Given the description of an element on the screen output the (x, y) to click on. 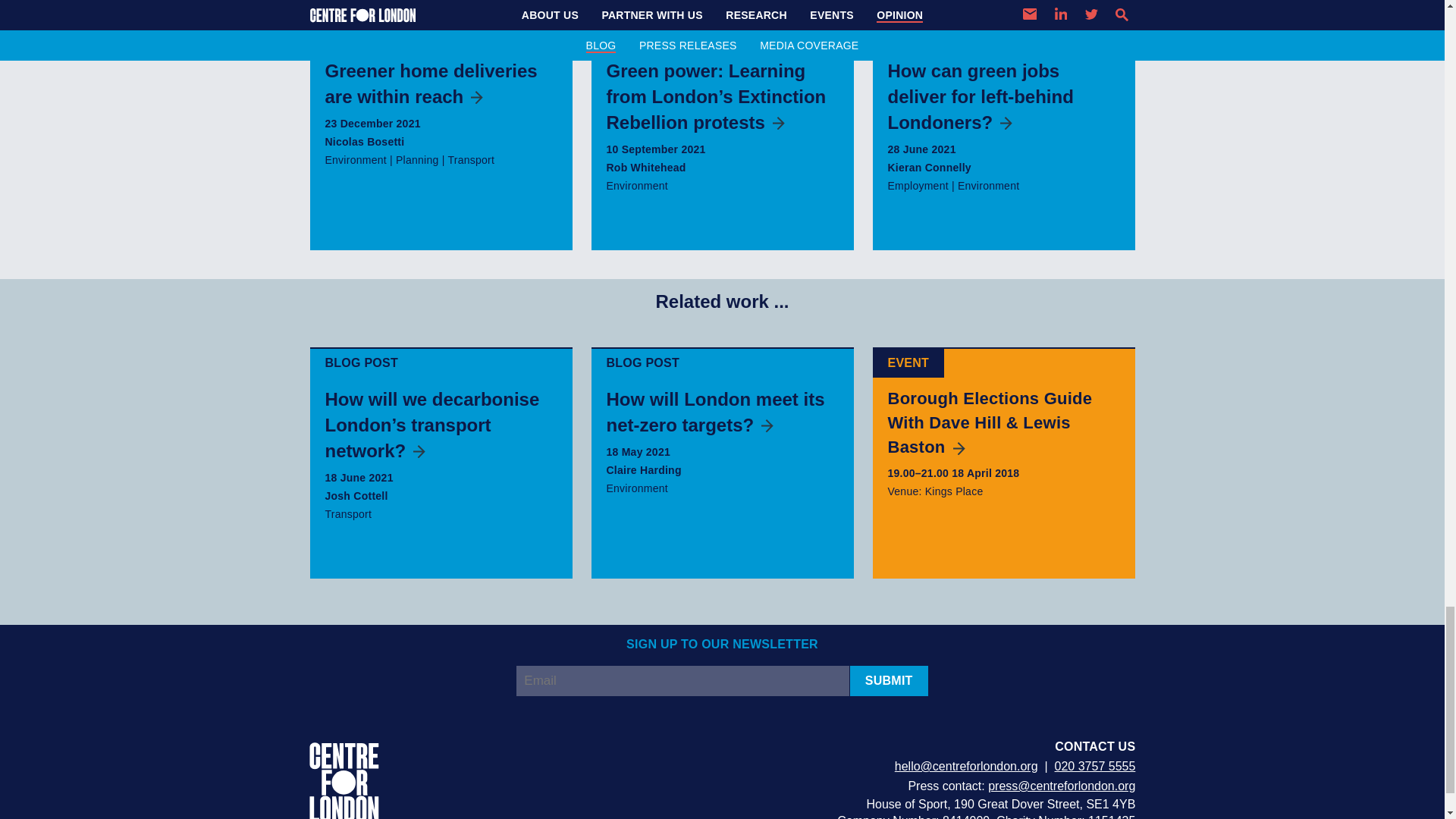
Search for content tagged as Environment (637, 488)
Search for content tagged as Transport (470, 159)
Search for content tagged as Planning (417, 159)
Search for content tagged as Environment (988, 185)
Search for content tagged as Environment (637, 185)
Search for content tagged as Environment (354, 159)
Search for content tagged as Employment (916, 185)
Search for content tagged as Transport (347, 513)
Submit (889, 680)
